Given the description of an element on the screen output the (x, y) to click on. 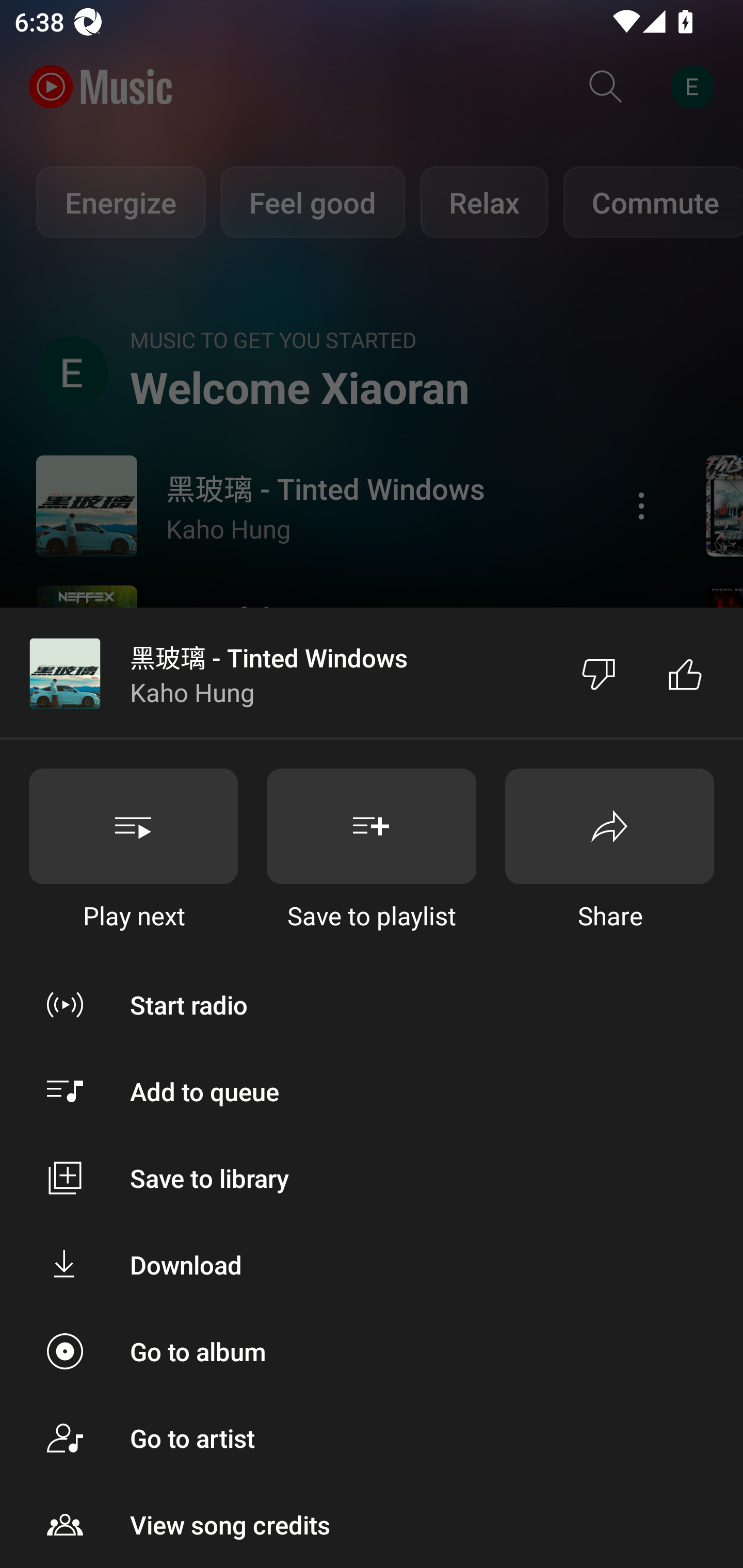
Dislike (598, 673)
Like (684, 673)
Start radio (371, 1004)
Add to queue (371, 1091)
Save to library (371, 1178)
Download (371, 1264)
Go to album (371, 1350)
Go to artist (371, 1437)
View song credits (371, 1524)
